Given the description of an element on the screen output the (x, y) to click on. 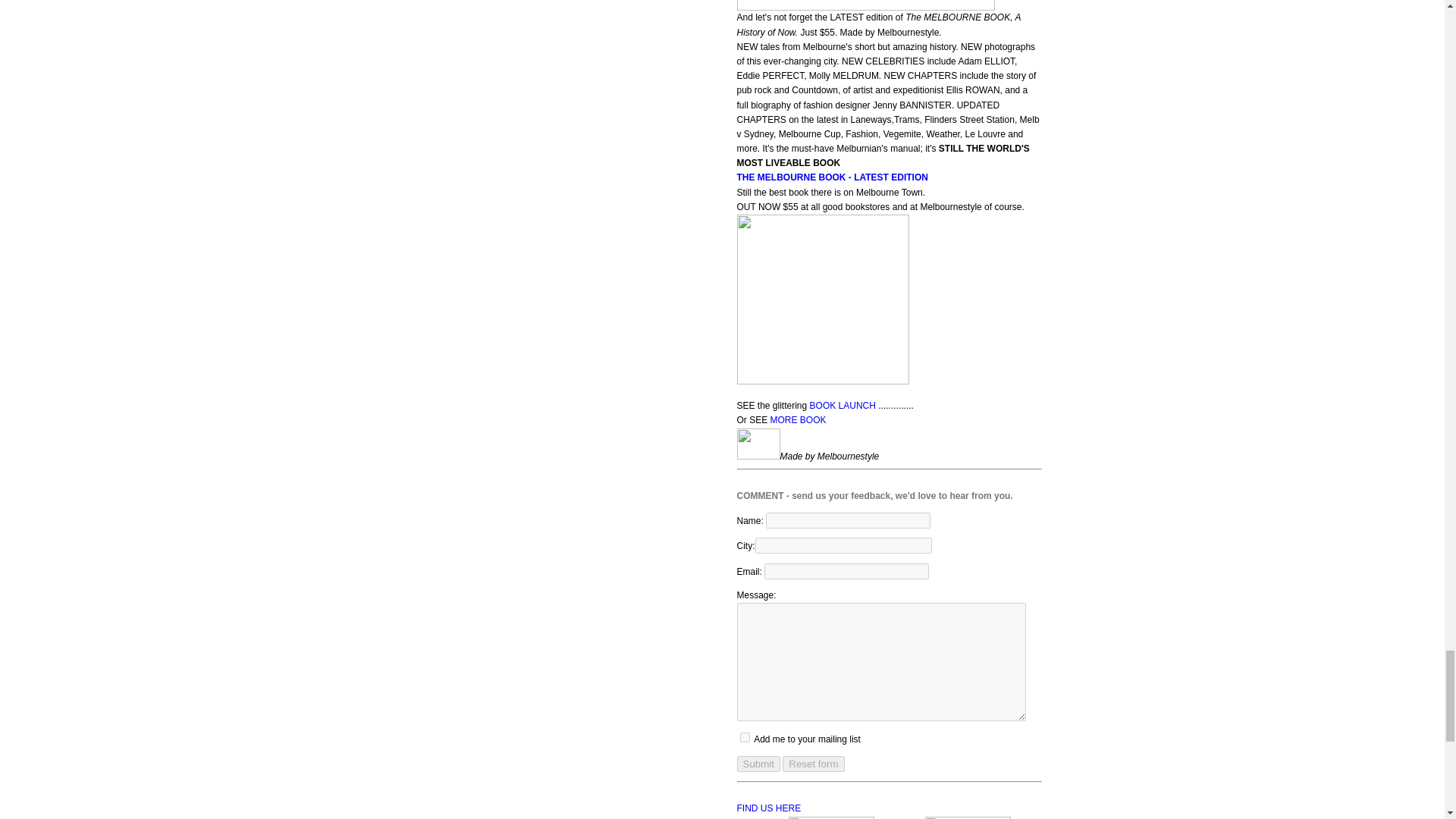
Reset form (813, 763)
Submit (758, 763)
Tell me about events (744, 737)
